Given the description of an element on the screen output the (x, y) to click on. 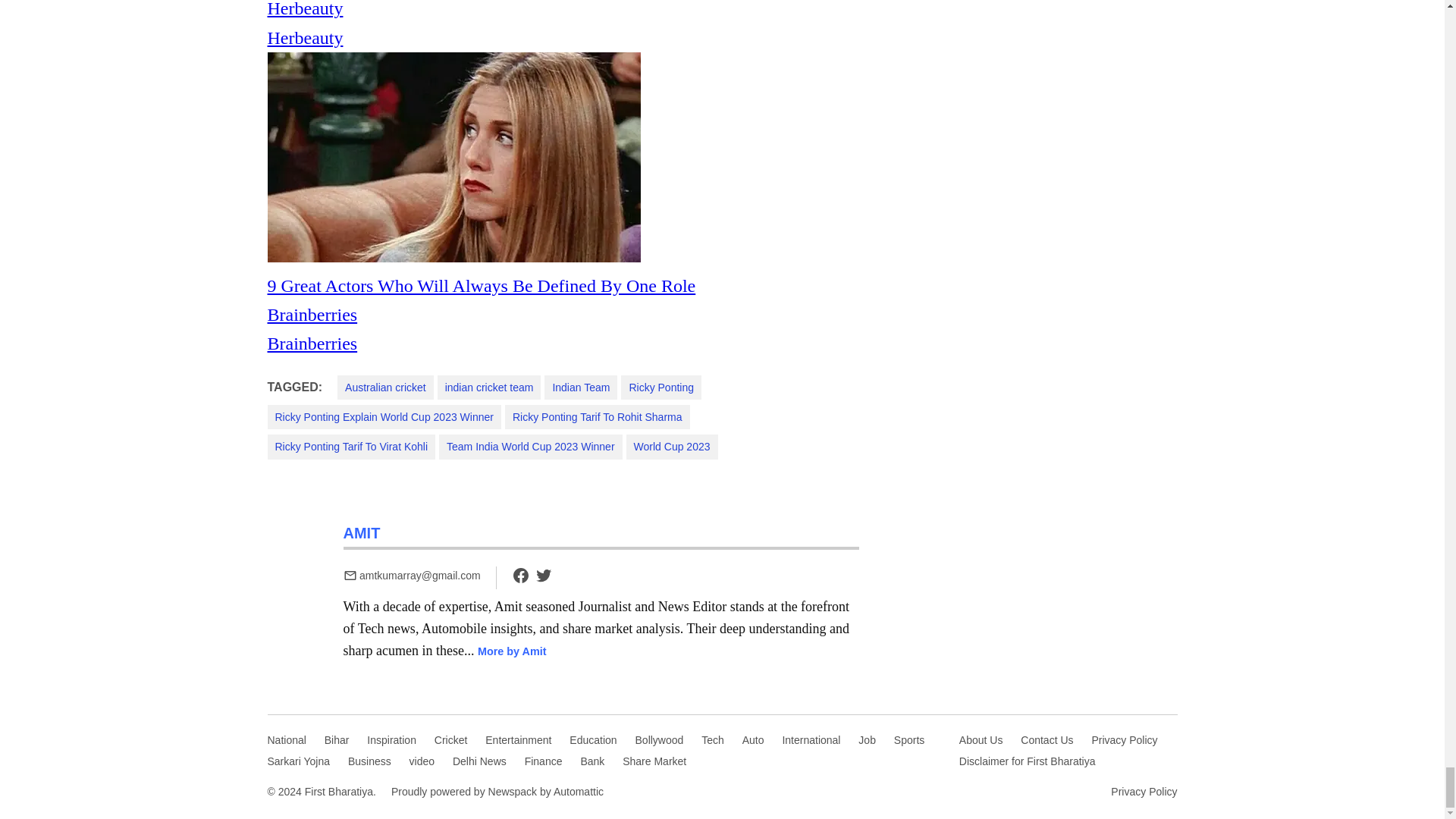
Australian cricket (385, 387)
Ricky Ponting Tarif To Rohit Sharma (597, 416)
twitter (543, 575)
World Cup 2023 (671, 446)
facebook (520, 580)
Inspiration (391, 740)
twitter (543, 580)
Indian Team (580, 387)
Bihar (336, 740)
Ricky Ponting (661, 387)
AMIT (361, 532)
Team India World Cup 2023 Winner (531, 446)
facebook (520, 575)
National (285, 740)
More by Amit (512, 651)
